Given the description of an element on the screen output the (x, y) to click on. 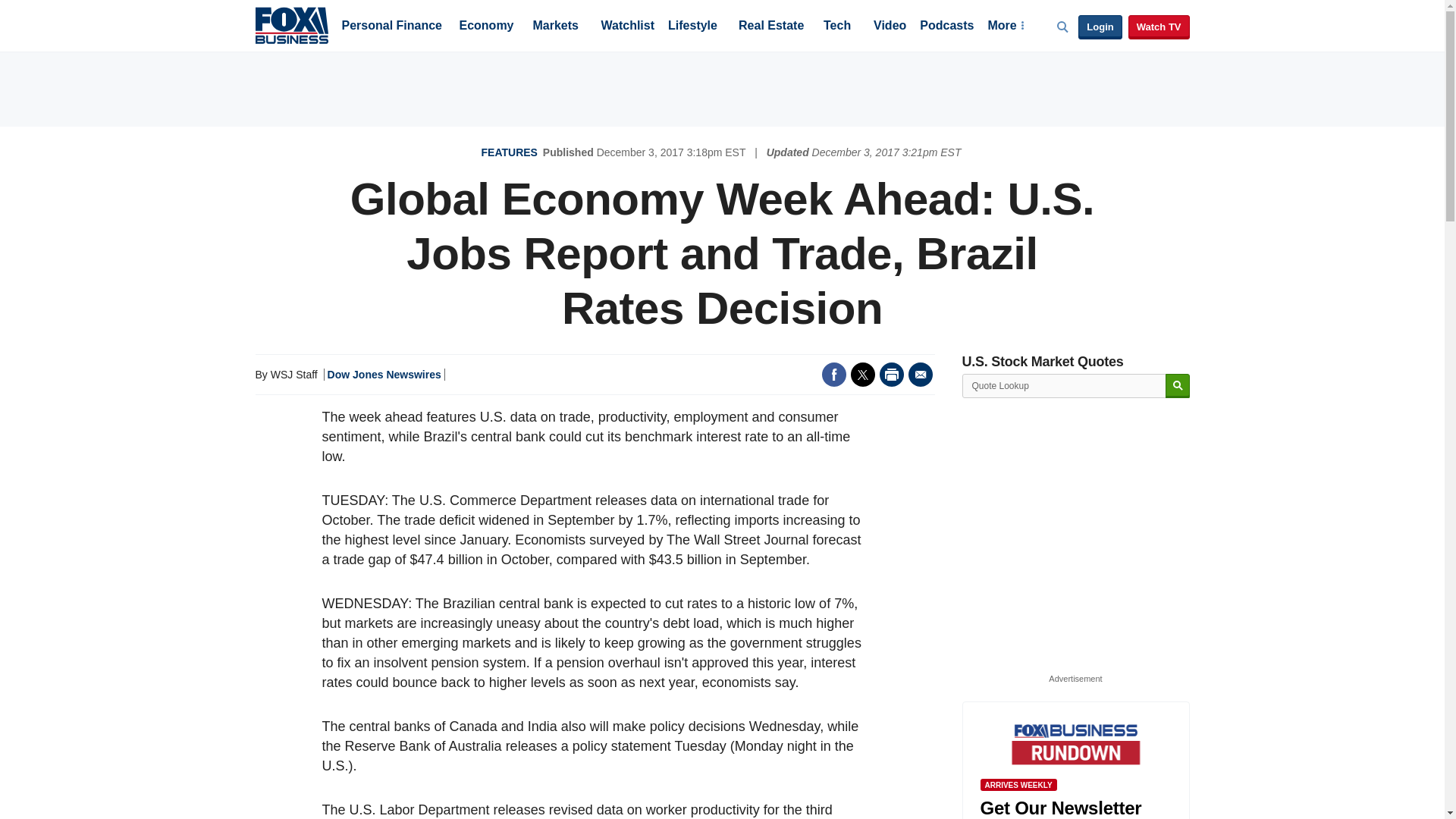
Markets (555, 27)
Personal Finance (391, 27)
Tech (837, 27)
Podcasts (947, 27)
Watchlist (626, 27)
Search (1176, 385)
Watch TV (1158, 27)
Fox Business (290, 24)
More (1005, 27)
Lifestyle (692, 27)
Video (889, 27)
Economy (486, 27)
Real Estate (770, 27)
Search (1176, 385)
Login (1099, 27)
